Given the description of an element on the screen output the (x, y) to click on. 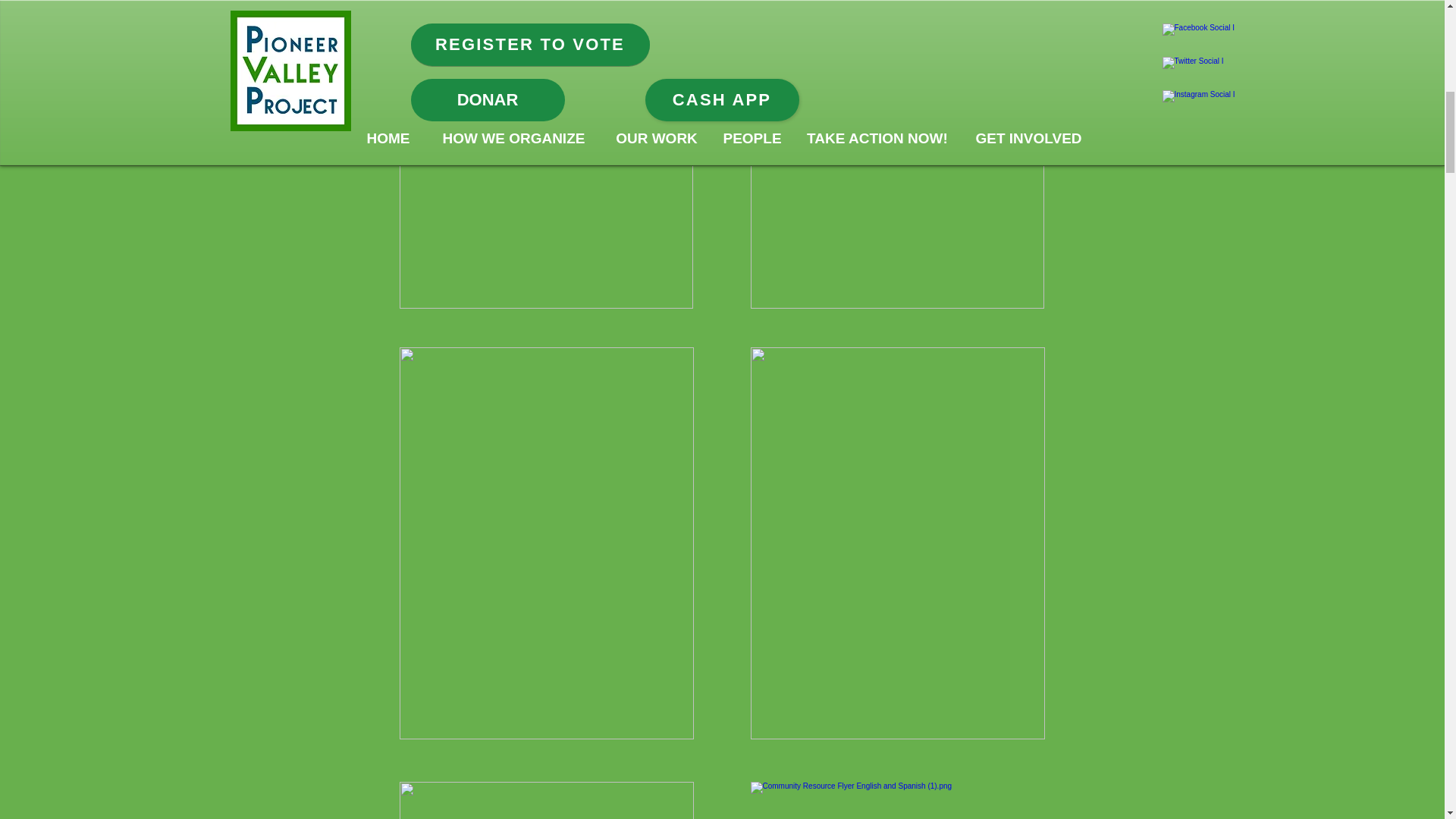
Community Resource Flyer English and Spa (545, 800)
